Given the description of an element on the screen output the (x, y) to click on. 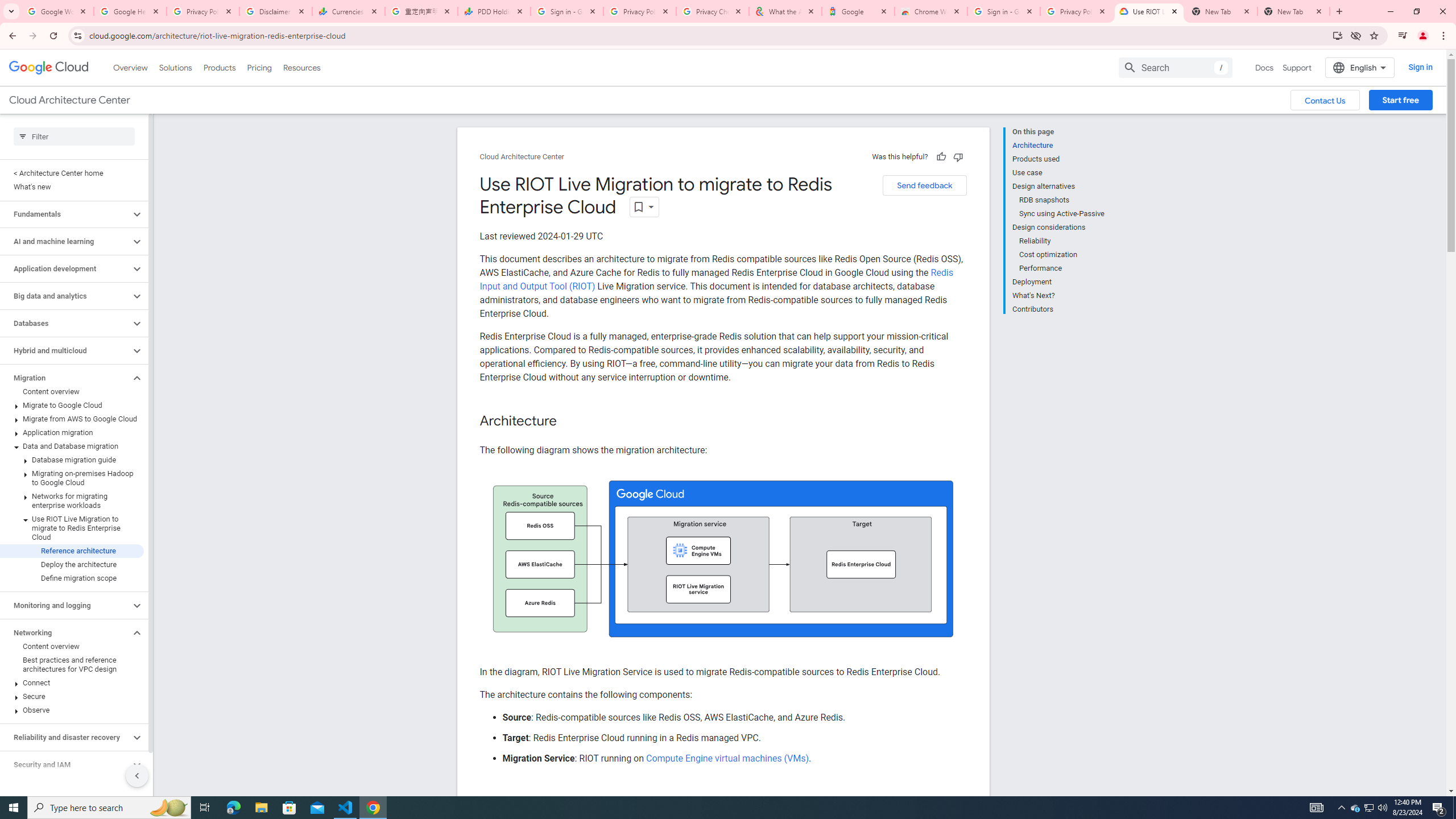
Networking (64, 632)
Sign in - Google Accounts (1003, 11)
What's Next? (1058, 295)
Hybrid and multicloud (64, 350)
Hide side navigation (136, 775)
Databases (64, 323)
RDB snapshots (1062, 200)
Use RIOT Live Migration to migrate to Redis Enterprise Cloud (72, 528)
PDD Holdings Inc - ADR (PDD) Price & News - Google Finance (493, 11)
Big data and analytics (64, 296)
Resources (301, 67)
Chrome Web Store - Color themes by Chrome (930, 11)
